Given the description of an element on the screen output the (x, y) to click on. 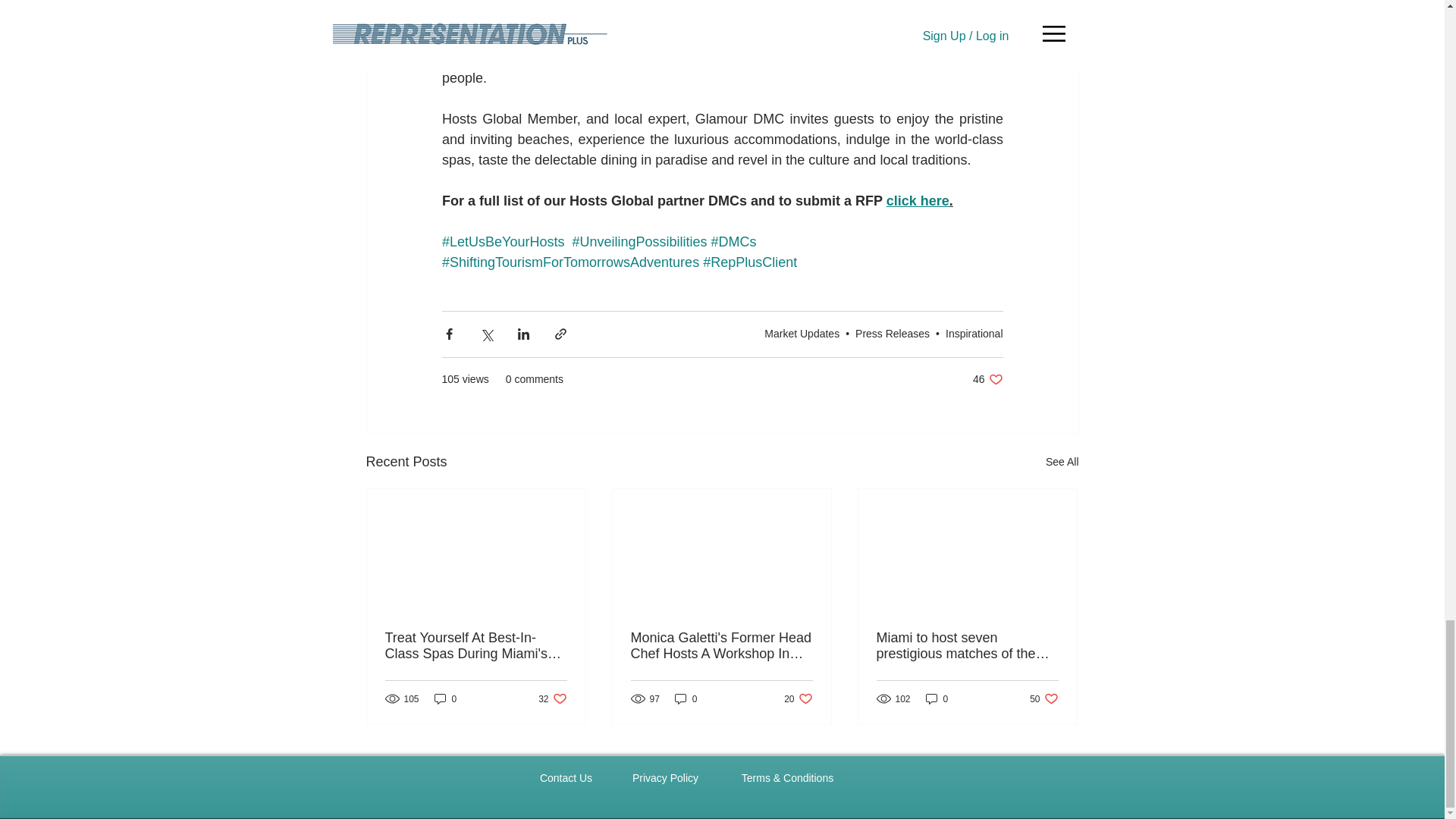
Press Releases (893, 333)
0 (445, 698)
Inspirational (973, 333)
Market Updates (802, 333)
click here (798, 698)
See All (917, 200)
